Given the description of an element on the screen output the (x, y) to click on. 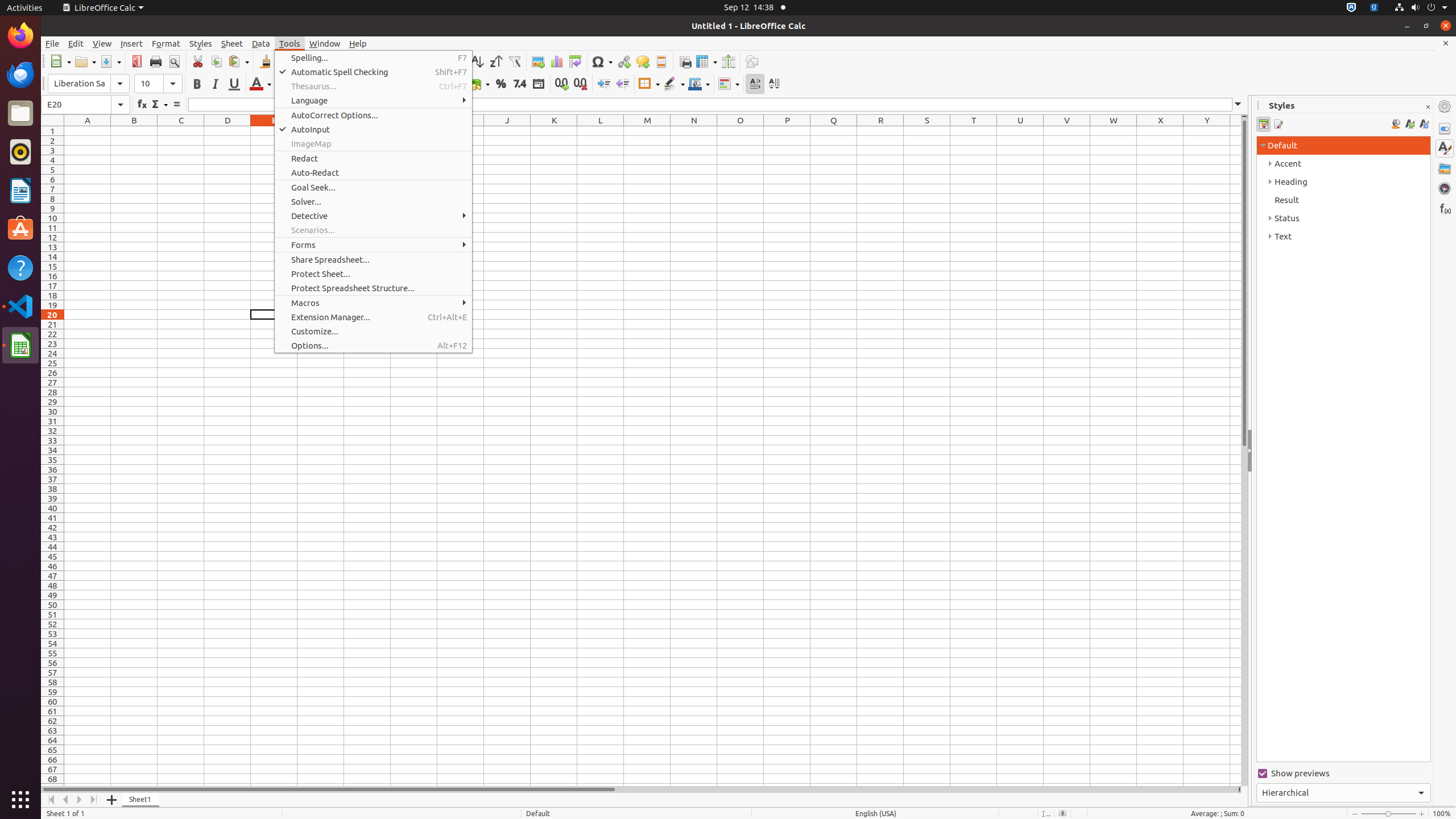
LibreOffice Writer Element type: push-button (20, 190)
Sheet1 Element type: page-tab (140, 799)
Navigator Element type: radio-button (1444, 188)
New Style from Selection Element type: push-button (1409, 123)
